Given the description of an element on the screen output the (x, y) to click on. 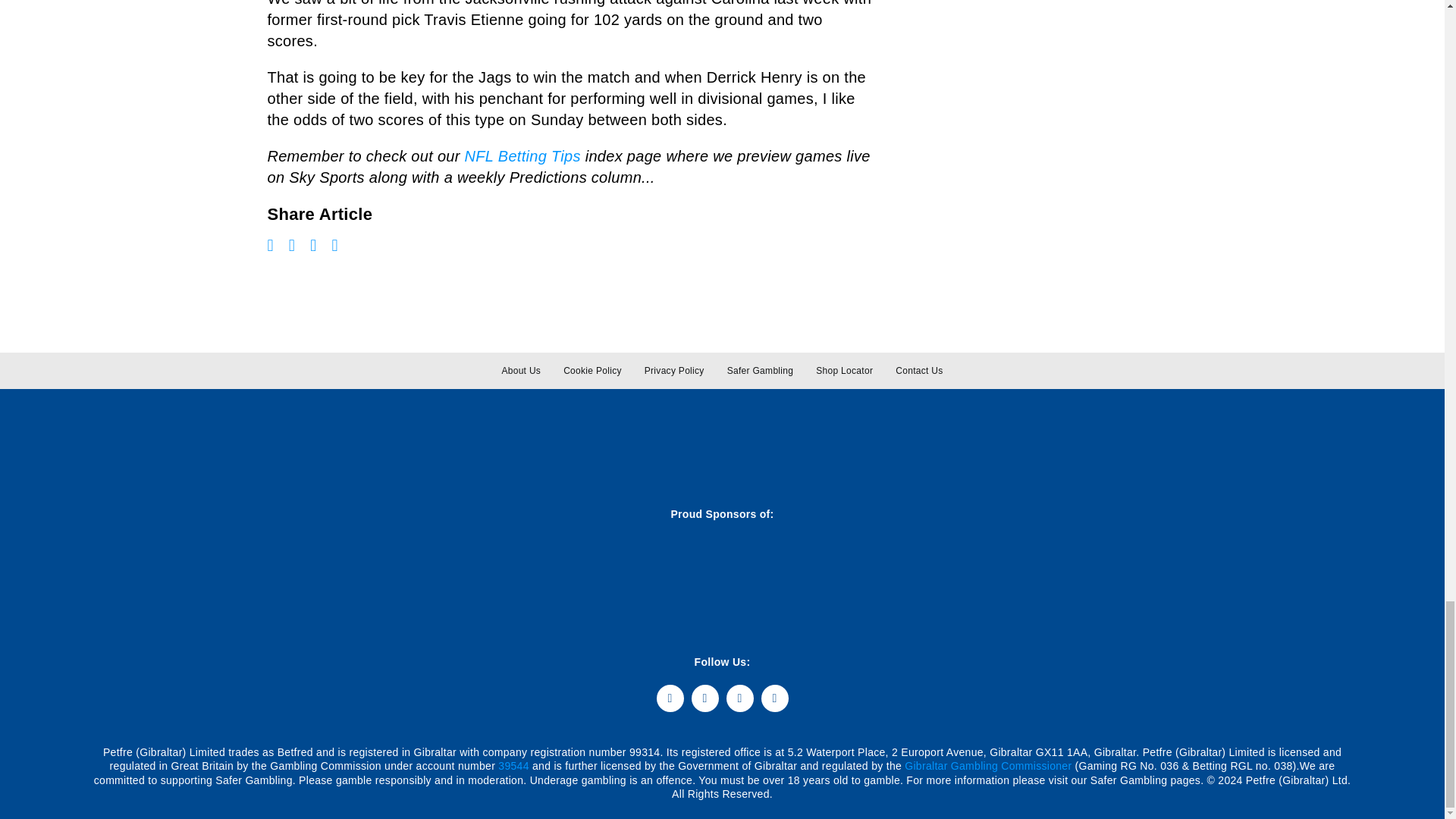
betfred sponsorship rgb footer world matchplay (175, 575)
betfred sponsorship rgb footer man utd (363, 575)
